Given the description of an element on the screen output the (x, y) to click on. 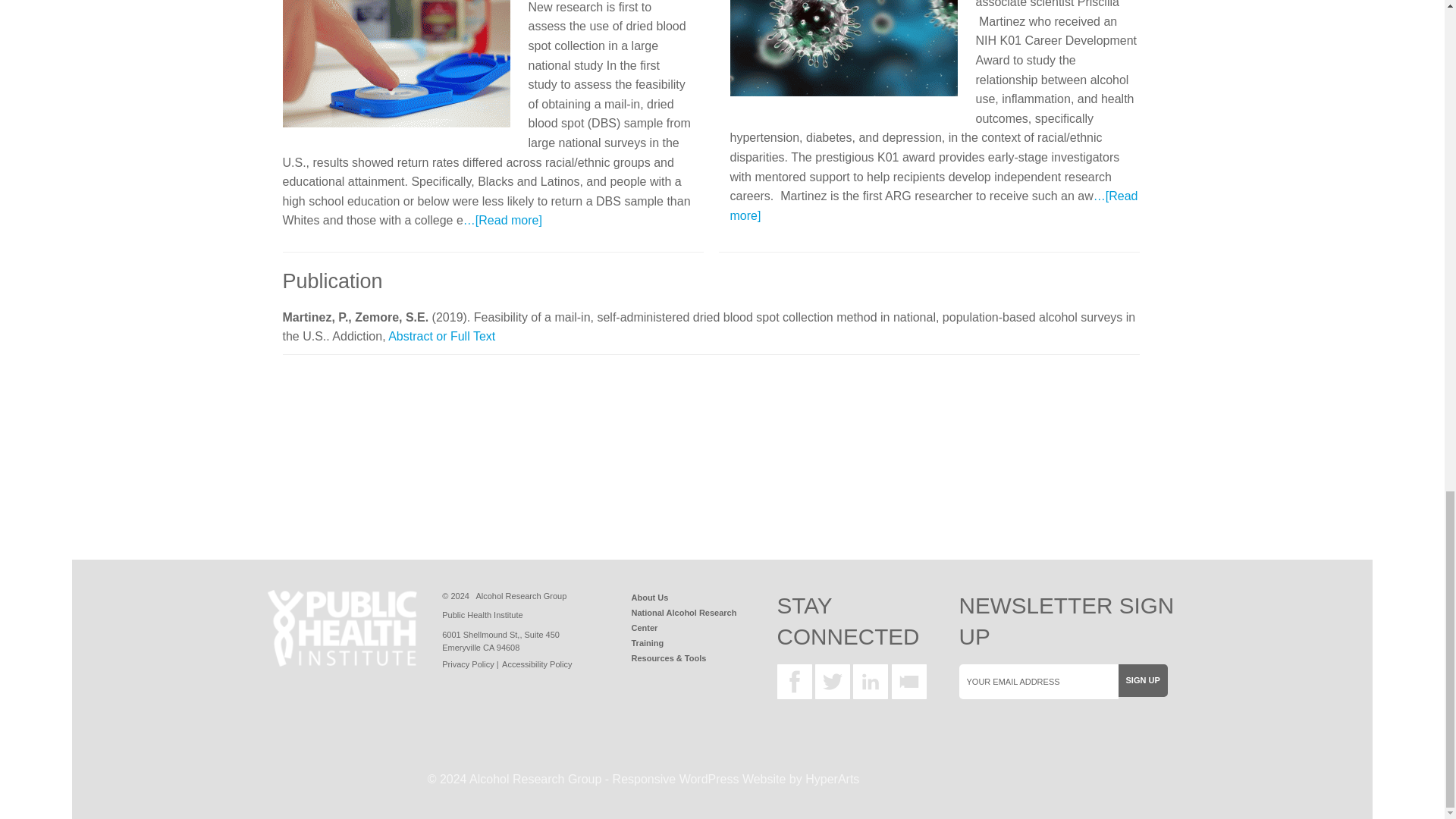
Alcohol Research Group Facebook Page (793, 681)
Alcohol Research Group Linkedin Profile (870, 681)
Alcohol Research Group Twitter Feed Page (832, 681)
Alcohol Research Group Map (500, 640)
Sign up (1142, 680)
Public Health Institute (341, 627)
Alcohol Research Group Youtube Page (908, 681)
